Given the description of an element on the screen output the (x, y) to click on. 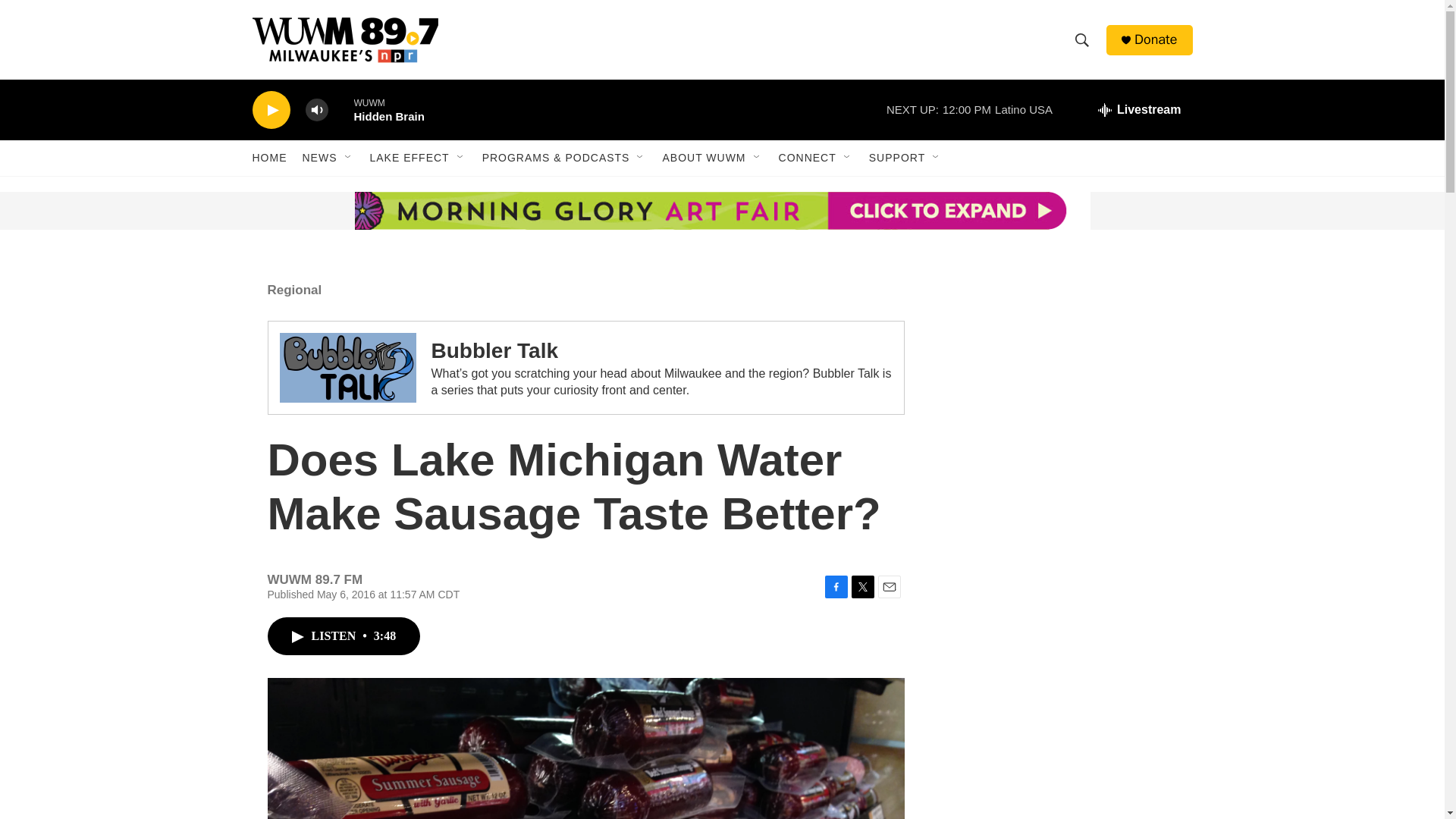
3rd party ad content (1062, 370)
3rd party ad content (1062, 608)
3rd party ad content (367, 210)
3rd party ad content (1062, 785)
